Given the description of an element on the screen output the (x, y) to click on. 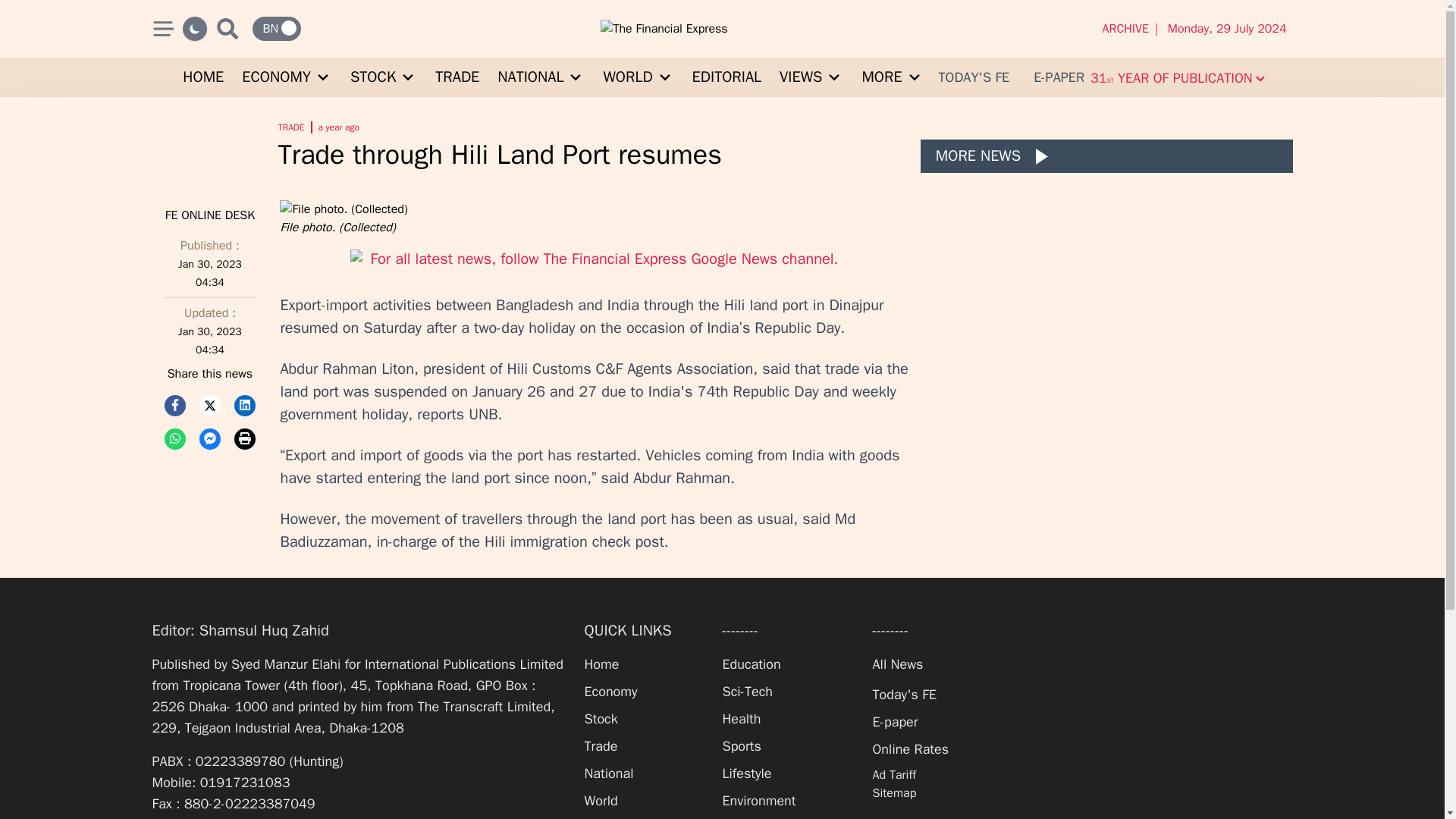
EDITORIAL (726, 77)
HOME (203, 77)
ARCHIVE (1128, 28)
VIEWS (810, 77)
WORLD (637, 77)
TRADE (456, 77)
NATIONAL (541, 77)
MORE (892, 77)
ECONOMY (286, 77)
Trade through Hili Land Port resumes (593, 154)
STOCK (383, 77)
